Given the description of an element on the screen output the (x, y) to click on. 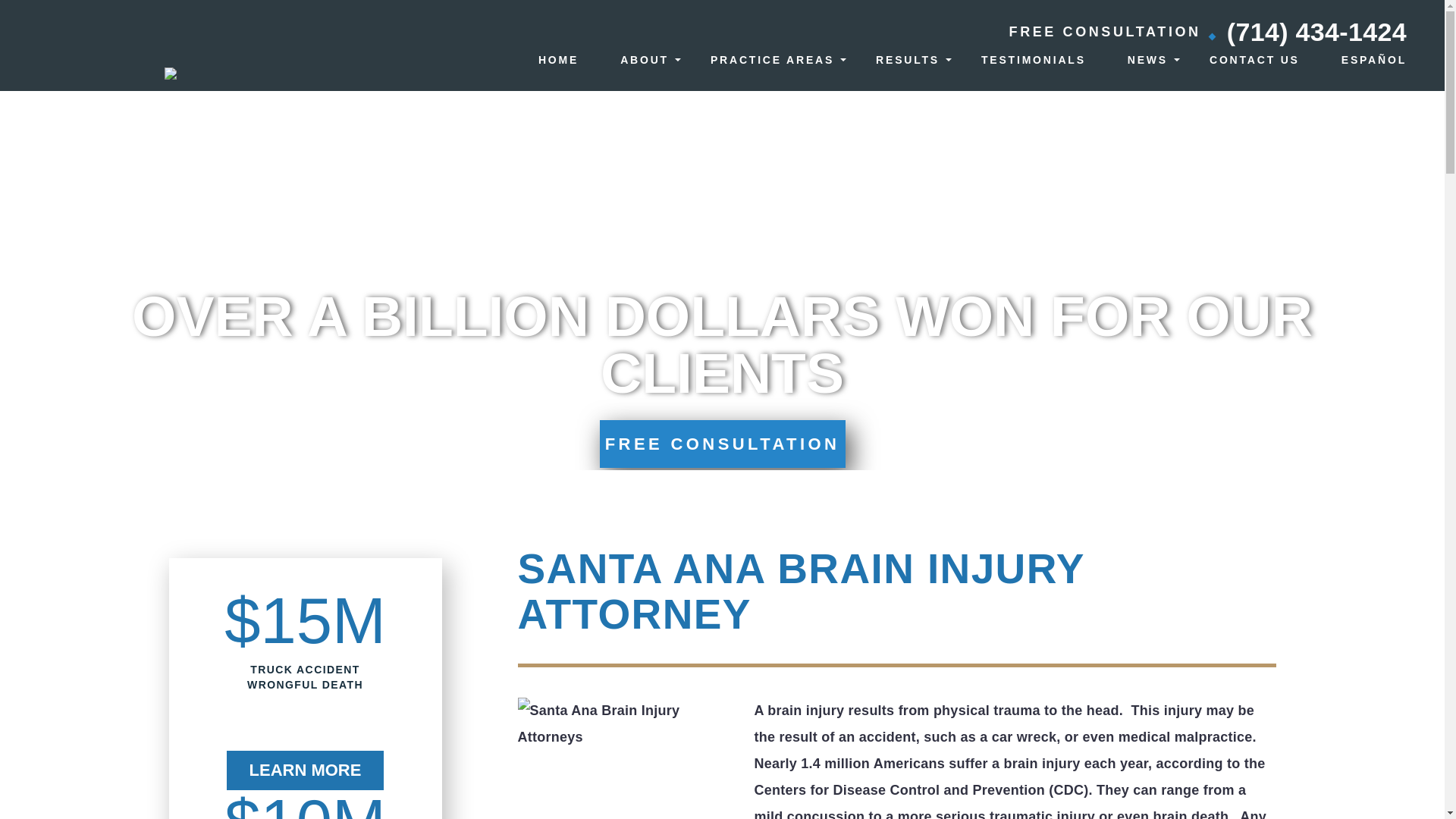
TESTIMONIALS (1033, 60)
HOME (558, 60)
RESULTS (907, 60)
ABOUT (644, 60)
FREE CONSULTATION (721, 443)
PRACTICE AREAS (772, 60)
NEWS (1146, 60)
